Given the description of an element on the screen output the (x, y) to click on. 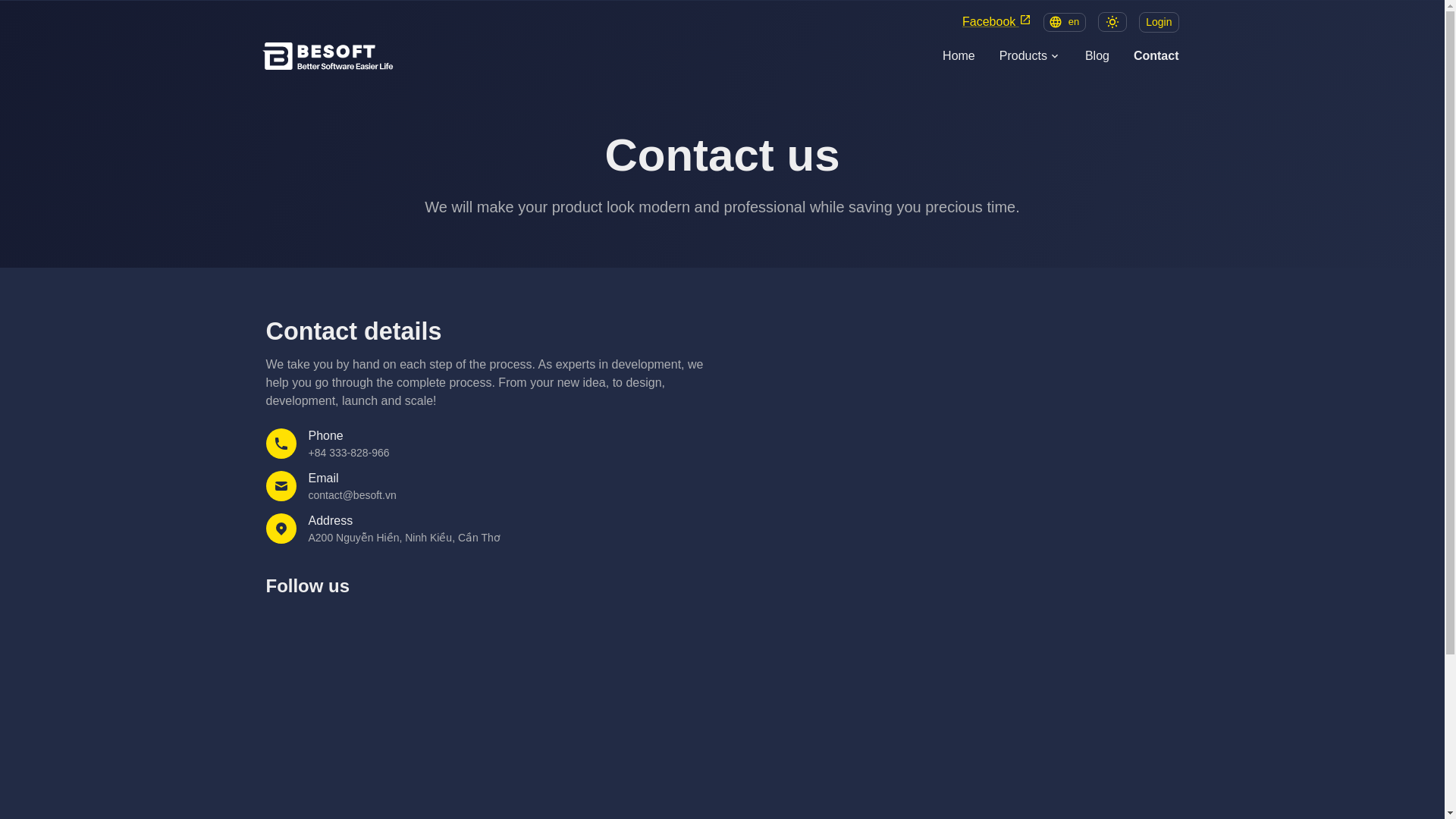
Contact (1156, 55)
Home (958, 55)
Login (1157, 22)
Besoft (332, 55)
en (1064, 22)
Facebook (996, 21)
Blog (1096, 55)
